Given the description of an element on the screen output the (x, y) to click on. 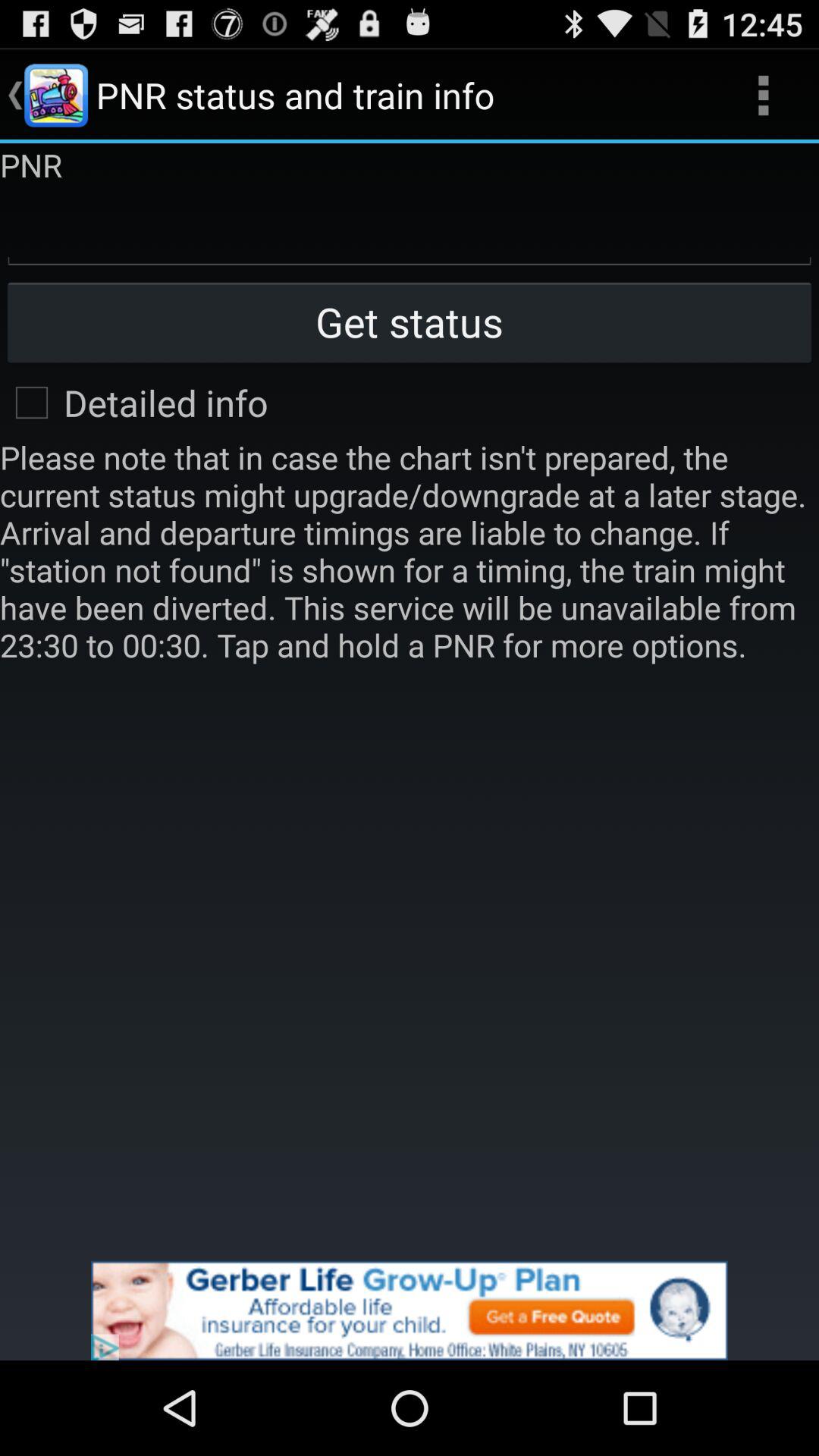
its an advertisement (409, 1310)
